Given the description of an element on the screen output the (x, y) to click on. 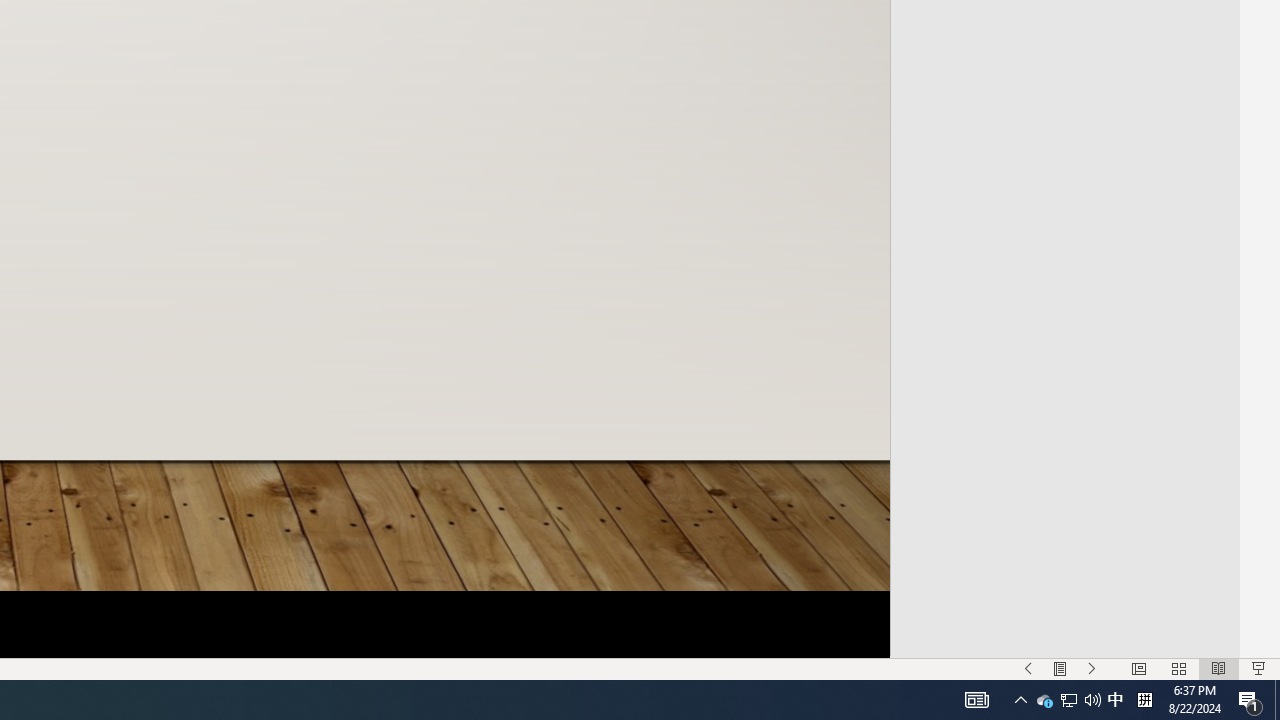
Slide Show Previous On (1028, 668)
Menu On (1060, 668)
Slide Show Next On (1092, 668)
